Given the description of an element on the screen output the (x, y) to click on. 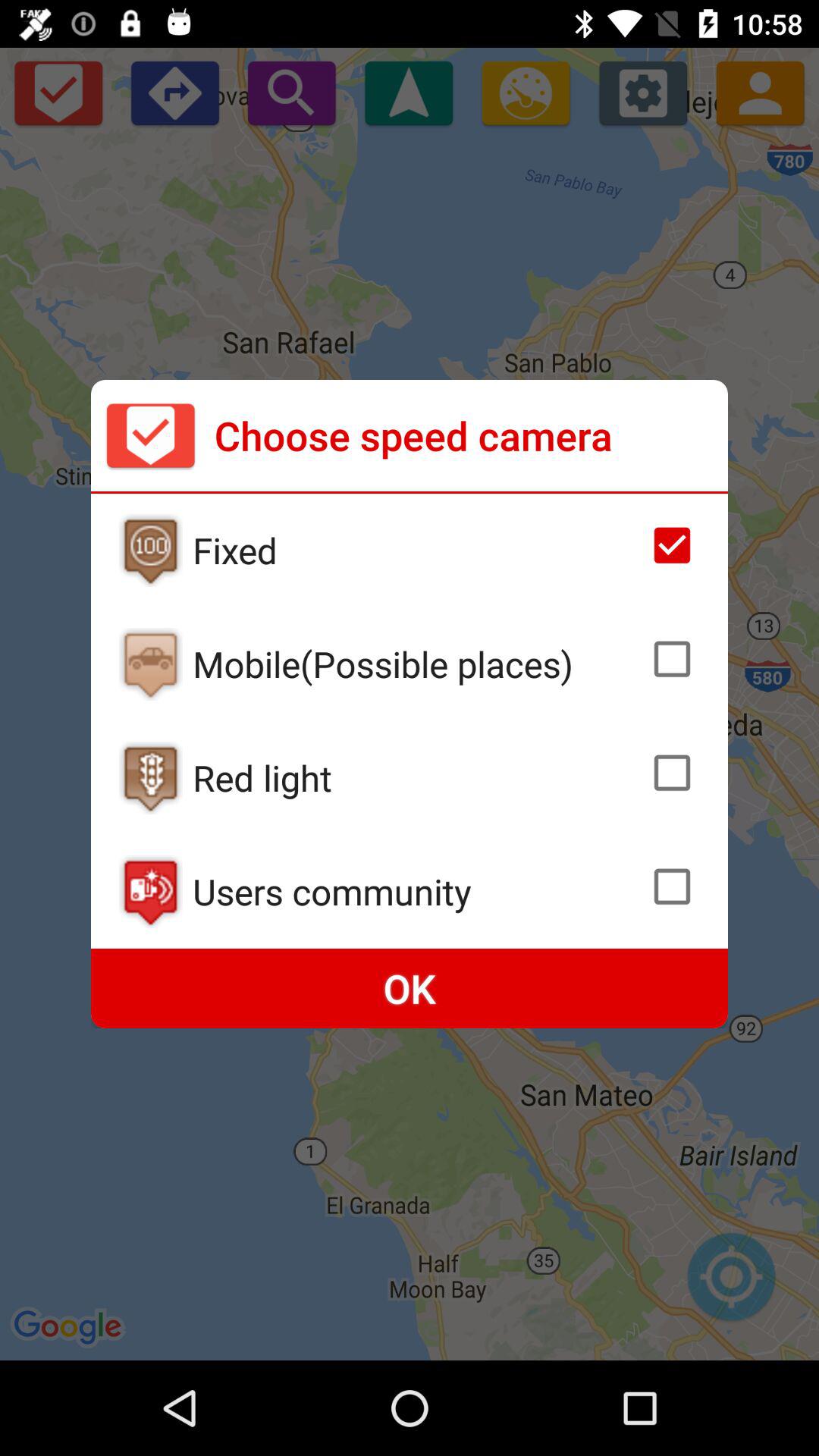
choose to red light books (672, 772)
